Given the description of an element on the screen output the (x, y) to click on. 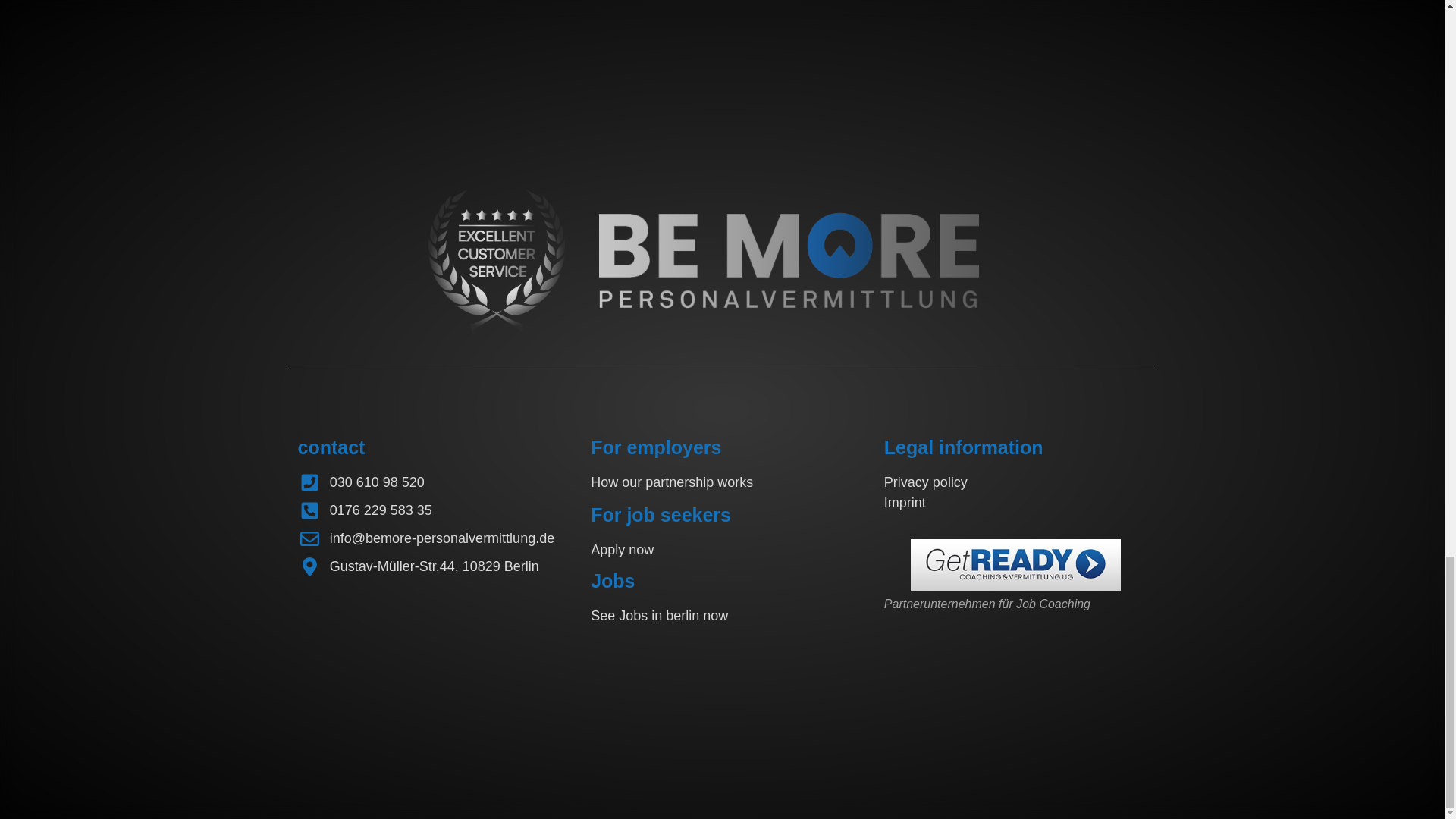
Imprint (904, 502)
Privacy policy (925, 482)
0176 229 583 35 (381, 510)
Apply now (622, 549)
How our partnership works (671, 482)
030 610 98 520 (377, 482)
See Jobs in berlin now (659, 615)
